Given the description of an element on the screen output the (x, y) to click on. 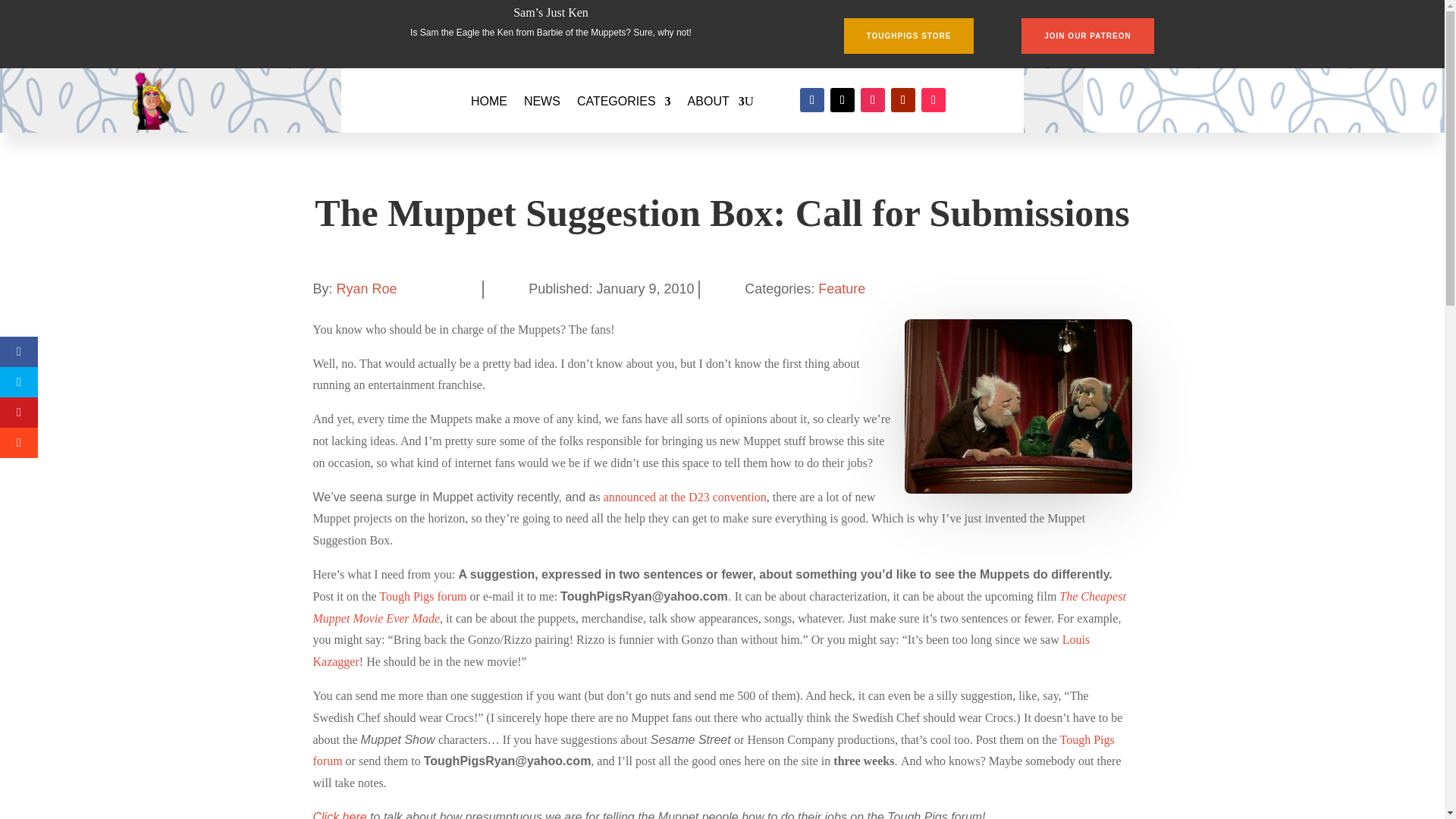
Avocado-764282 (1017, 406)
JOIN OUR PATREON (1088, 36)
Follow on Facebook (811, 99)
Follow on Youtube (903, 99)
Follow on Instagram (872, 99)
Follow on TikTok (932, 99)
CATEGORIES (623, 101)
ABOUT (715, 101)
Follow on X (841, 99)
TOUGHPIGS STORE (909, 36)
